Given the description of an element on the screen output the (x, y) to click on. 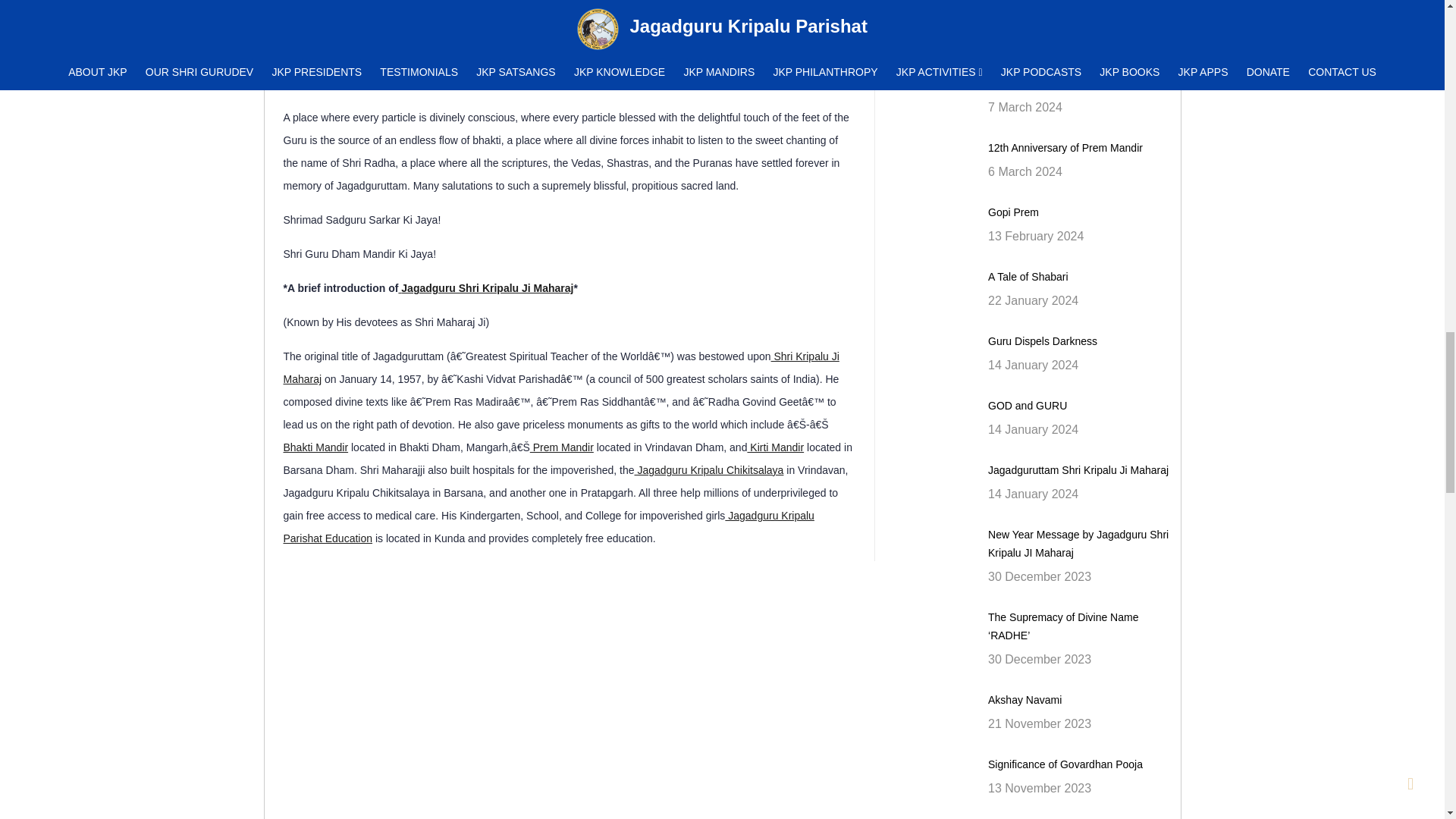
Jagadguru Shri Kripalu Ji Maharaj (485, 287)
Prem Mandir (561, 447)
Bhakti Mandir (316, 447)
Shri Kripalu Ji Maharaj (561, 367)
